Given the description of an element on the screen output the (x, y) to click on. 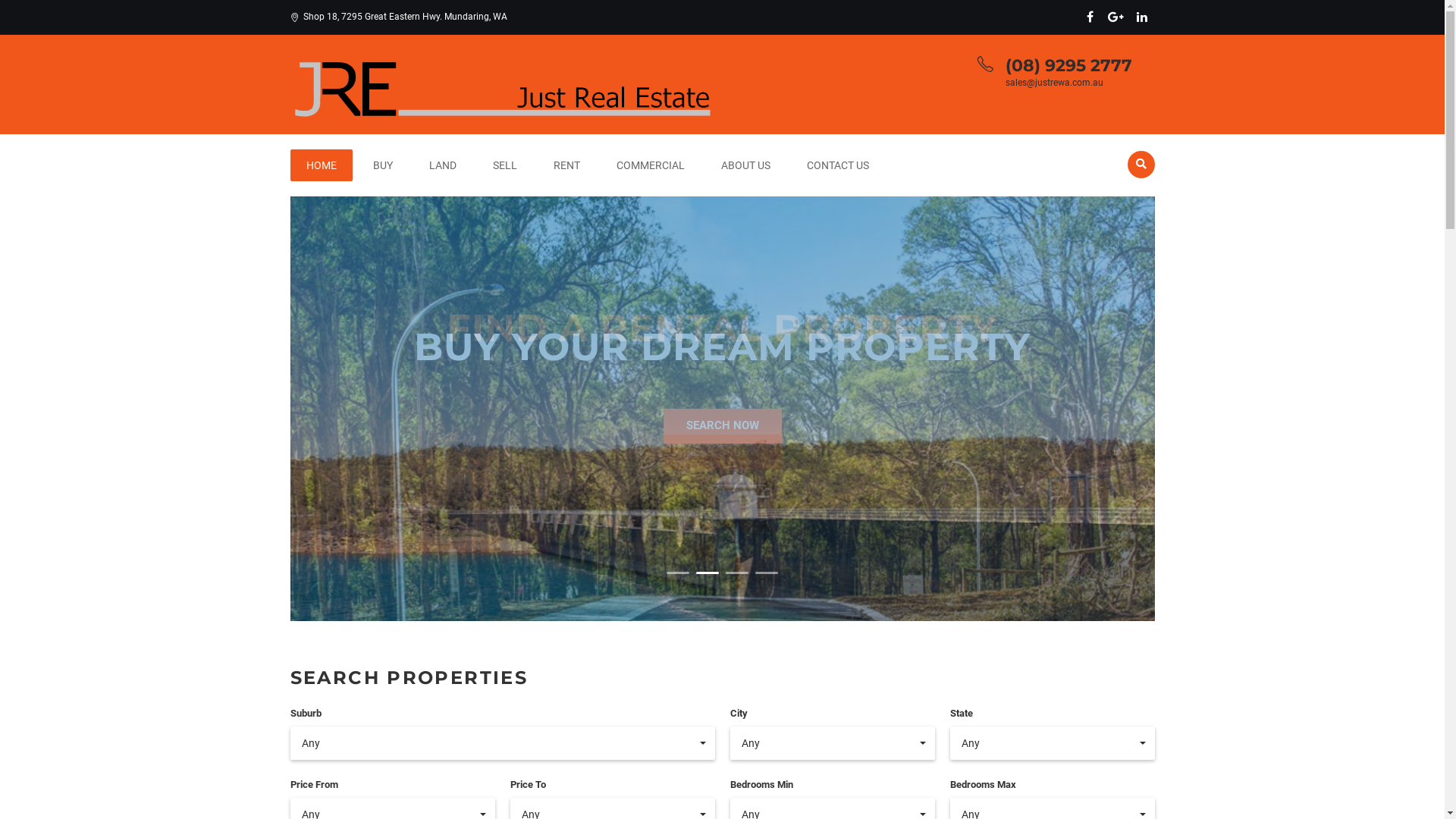
Any
  Element type: text (1051, 742)
HOME Element type: text (320, 165)
SELL Element type: text (504, 165)
sales@justrewa.com.au Element type: text (1054, 82)
LAND Element type: text (441, 165)
CONTACT US Element type: text (837, 165)
Shop 18, 7295 Great Eastern Hwy. Mundaring, WA Element type: text (397, 16)
Any
  Element type: text (831, 742)
Any
  Element type: text (501, 742)
(08) 9295 2777 Element type: text (1068, 65)
RENT Element type: text (565, 165)
SEARCH NOW Element type: text (721, 425)
ABOUT US Element type: text (745, 165)
COMMERCIAL Element type: text (650, 165)
BUY Element type: text (381, 165)
